Given the description of an element on the screen output the (x, y) to click on. 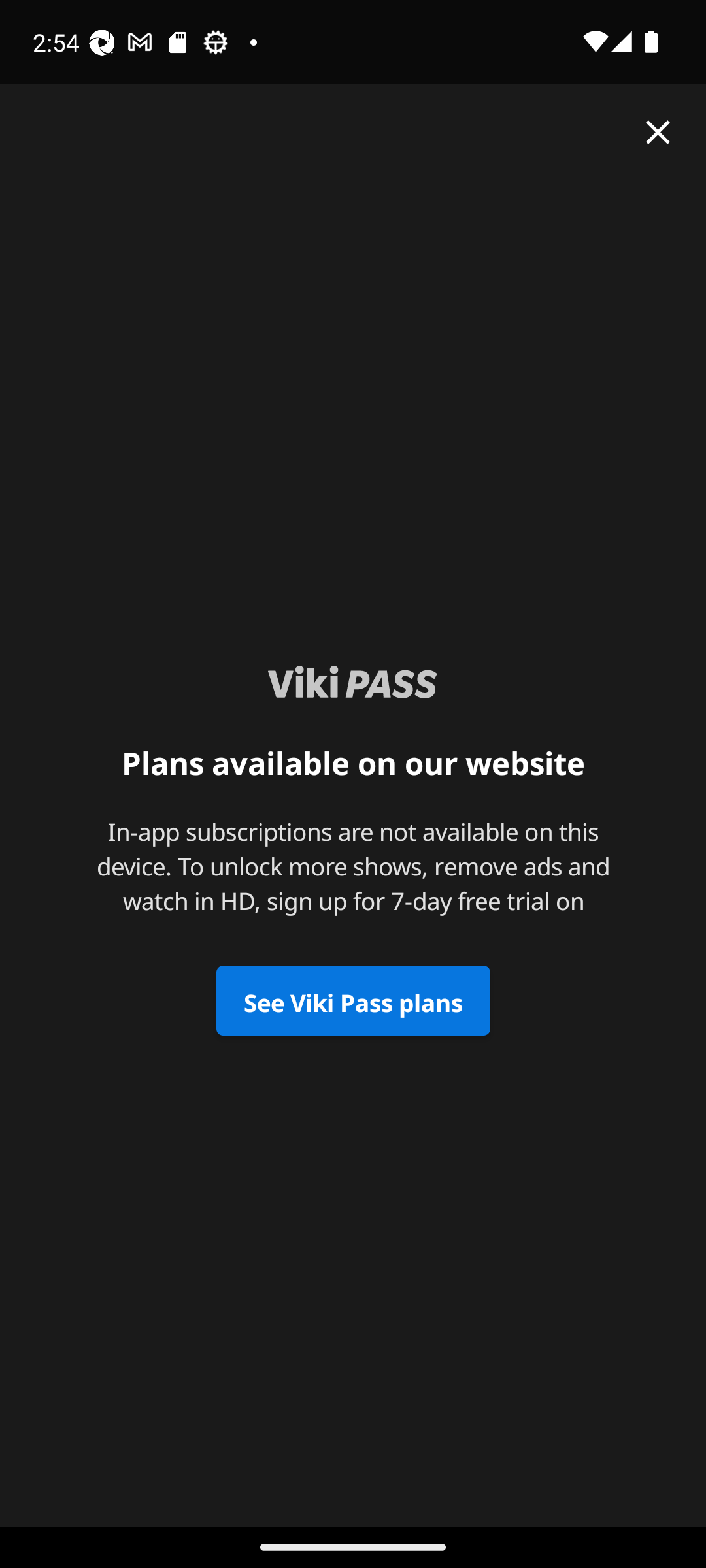
close_button (658, 132)
See Viki Pass plans (352, 1000)
